Given the description of an element on the screen output the (x, y) to click on. 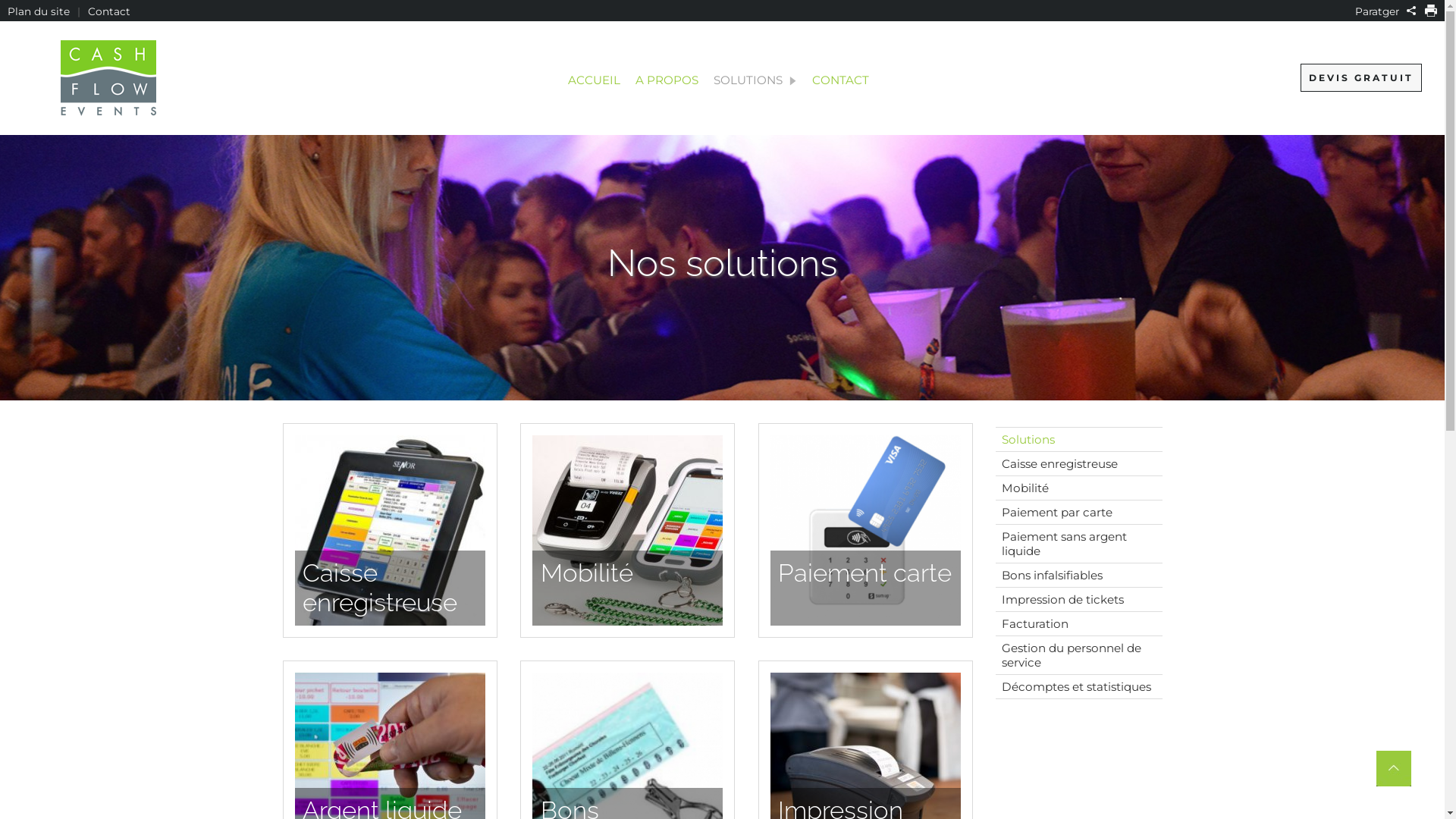
Solutions Element type: text (1077, 438)
A PROPOS Element type: text (666, 80)
Contact Element type: text (109, 11)
Impression de tickets Element type: text (1077, 599)
Version imprimable Element type: hover (1430, 10)
Caisse enregistreuse Element type: text (1077, 463)
CONTACT Element type: text (840, 80)
SOLUTIONS Element type: text (754, 80)
Bons infalsifiables Element type: text (1077, 575)
Facturation Element type: text (1077, 623)
Paiement sans argent liquide Element type: text (1077, 543)
ACCUEIL Element type: text (594, 80)
Paiement par carte Element type: text (1077, 512)
DEVIS GRATUIT Element type: text (1360, 77)
Plan du site Element type: text (38, 11)
Gestion du personnel de service Element type: text (1077, 655)
